Given the description of an element on the screen output the (x, y) to click on. 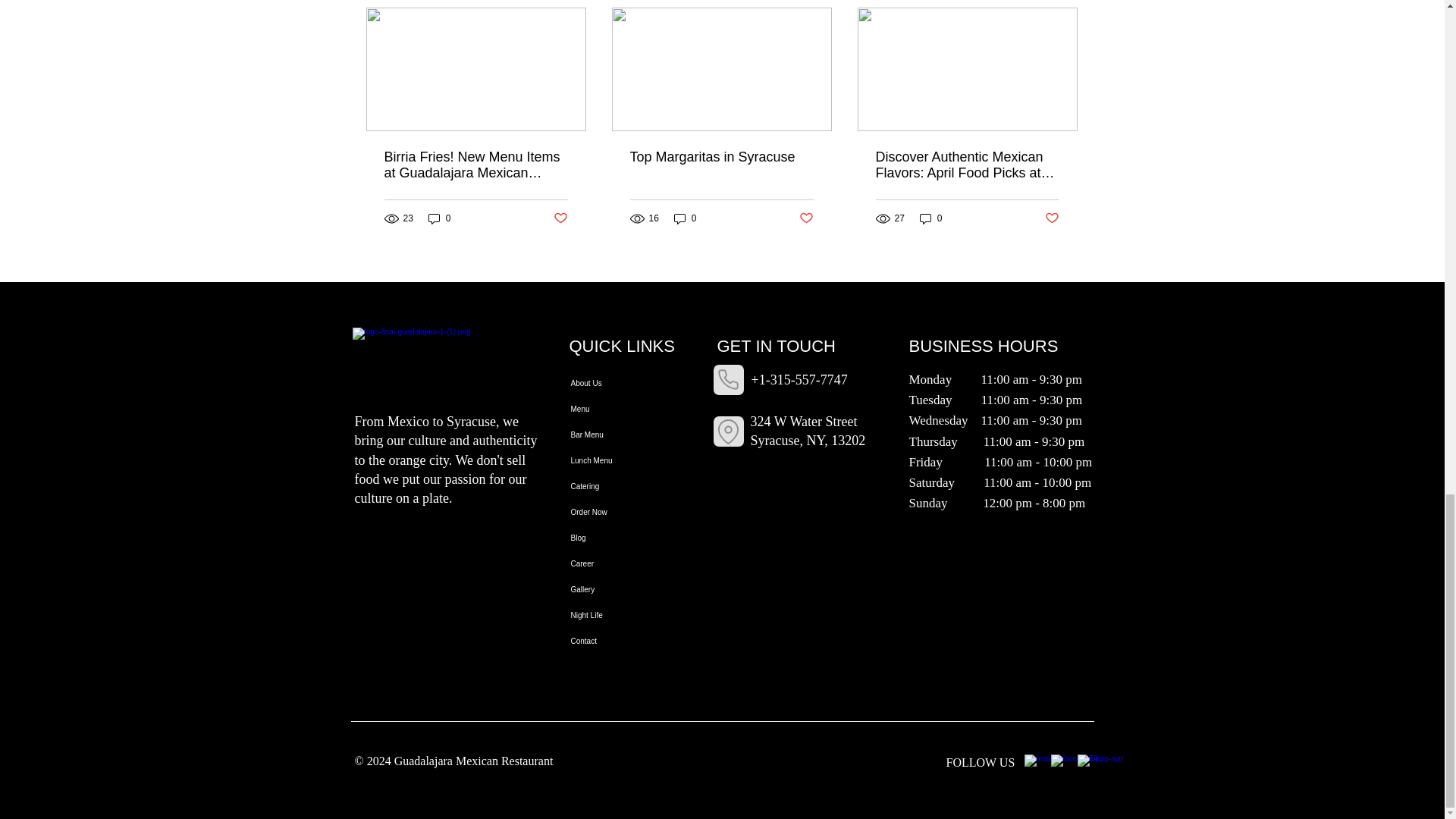
0 (685, 218)
About Us (615, 383)
Post not marked as liked (1052, 218)
Post not marked as liked (560, 218)
0 (930, 218)
Top Margaritas in Syracuse (720, 157)
0 (439, 218)
Menu (615, 409)
